Given the description of an element on the screen output the (x, y) to click on. 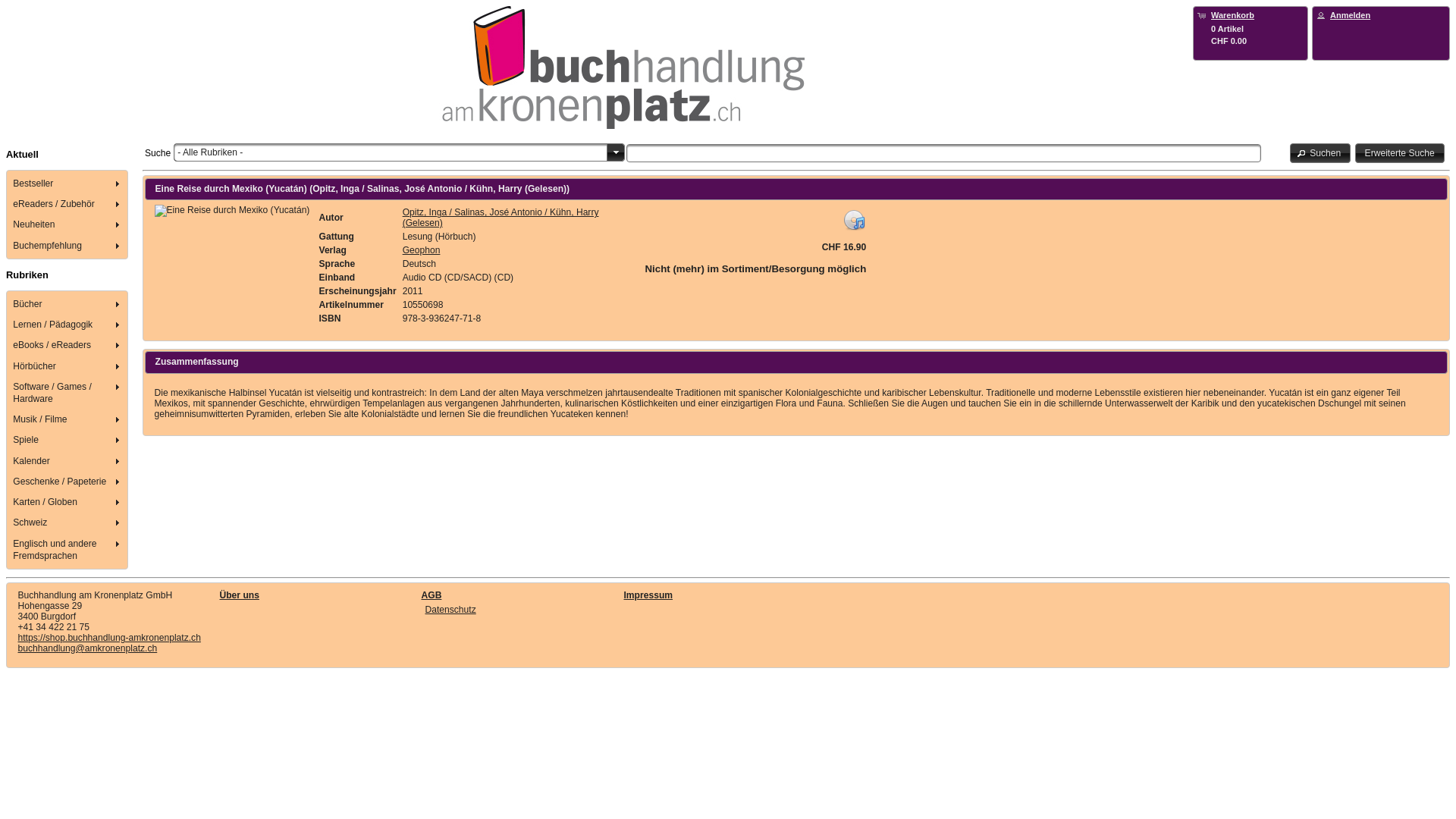
AGB Element type: text (431, 594)
Anmelden Element type: text (1350, 14)
Musik / Filme Element type: text (67, 419)
Buchempfehlung Element type: text (67, 244)
Datenschutz Element type: text (449, 609)
Impressum Element type: text (647, 594)
buchhandlung@amkronenplatz.ch Element type: text (87, 648)
https://shop.buchhandlung-amkronenplatz.ch Element type: text (109, 637)
Geophon Element type: text (421, 249)
Audio CD Element type: hover (853, 219)
Audio CD Element type: hover (232, 210)
Schweiz Element type: text (67, 522)
eBooks / eReaders Element type: text (67, 344)
Kalender Element type: text (67, 460)
Bestseller Element type: text (67, 182)
Geschenke / Papeterie Element type: text (67, 480)
Spiele Element type: text (67, 439)
Englisch und andere Fremdsprachen Element type: text (67, 548)
Neuheiten Element type: text (67, 224)
Karten / Globen Element type: text (67, 501)
Software / Games / Hardware Element type: text (67, 391)
Erweiterte Suche Element type: text (1399, 153)
Warenkorb
0 Artikel
CHF 0.00 Element type: text (1250, 26)
Suchen Element type: text (1320, 153)
